Given the description of an element on the screen output the (x, y) to click on. 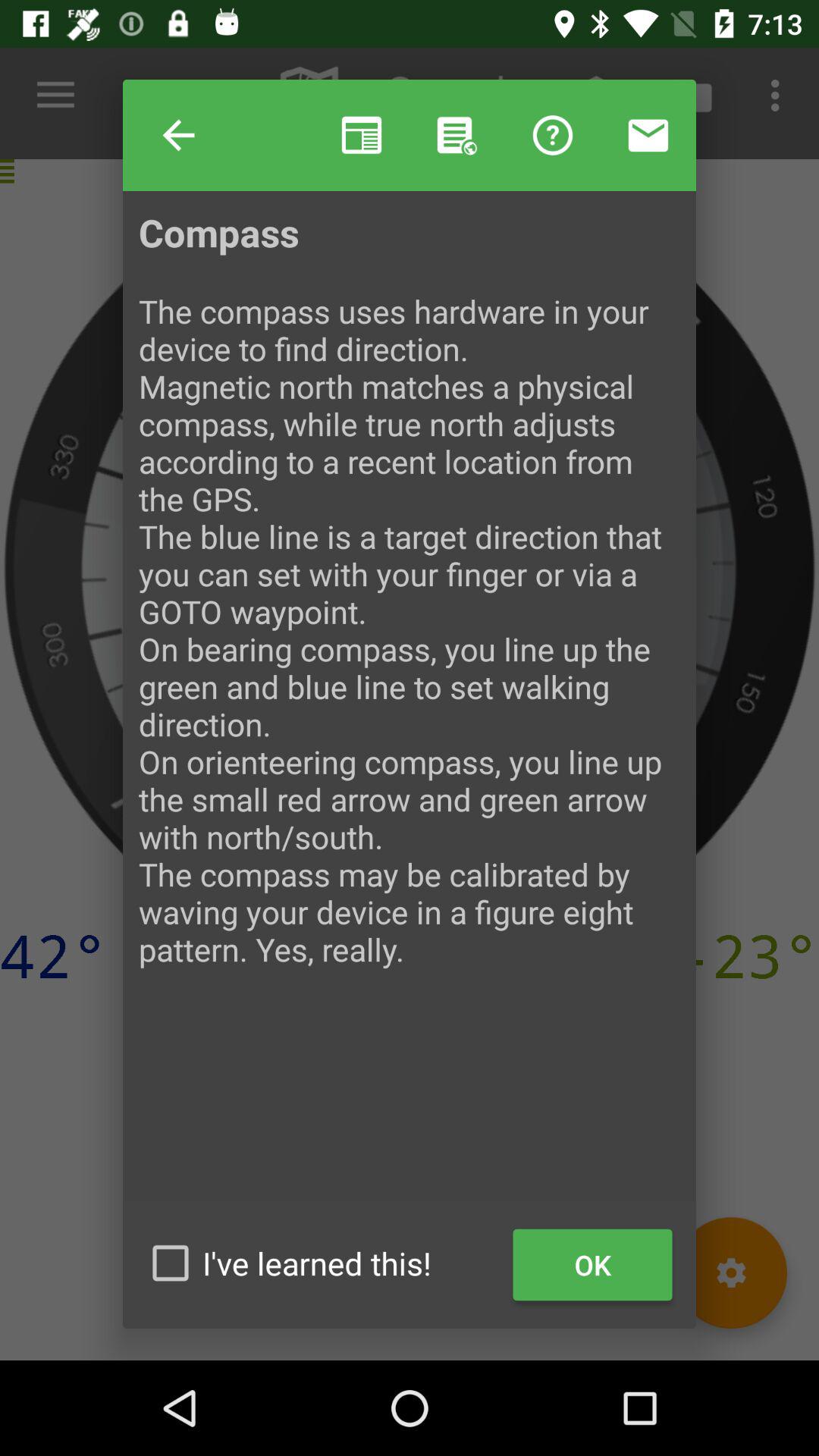
scroll until ok item (592, 1264)
